Given the description of an element on the screen output the (x, y) to click on. 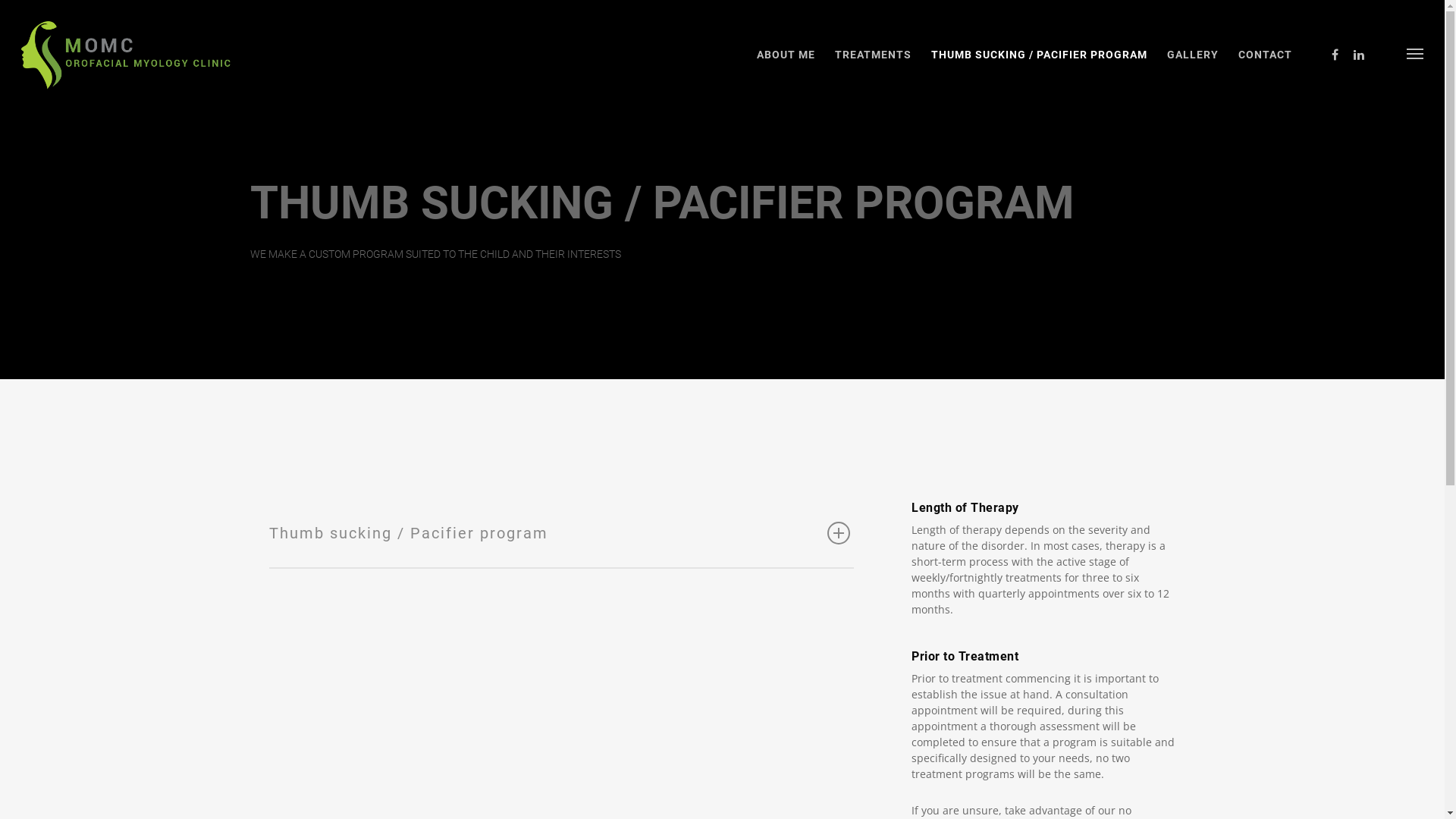
Thumb sucking / Pacifier program Element type: text (561, 532)
ABOUT ME Element type: text (785, 65)
CONTACT Element type: text (1265, 65)
TREATMENTS Element type: text (872, 65)
THUMB SUCKING / PACIFIER PROGRAM Element type: text (1039, 65)
GALLERY Element type: text (1192, 65)
